Given the description of an element on the screen output the (x, y) to click on. 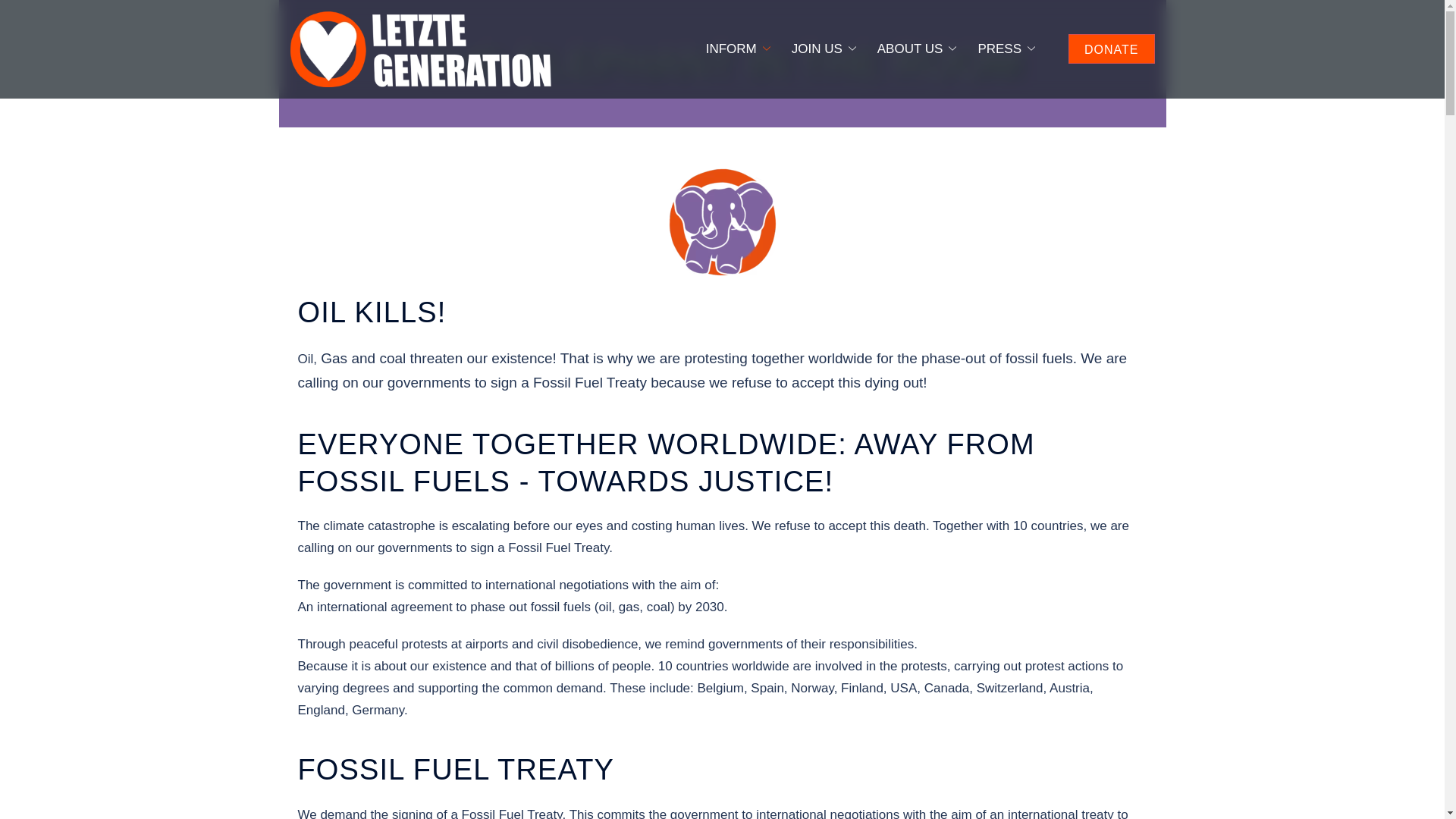
DONATE (1111, 48)
PRESS (999, 49)
JOIN US (817, 49)
INFORM (731, 49)
ABOUT US (910, 49)
